Given the description of an element on the screen output the (x, y) to click on. 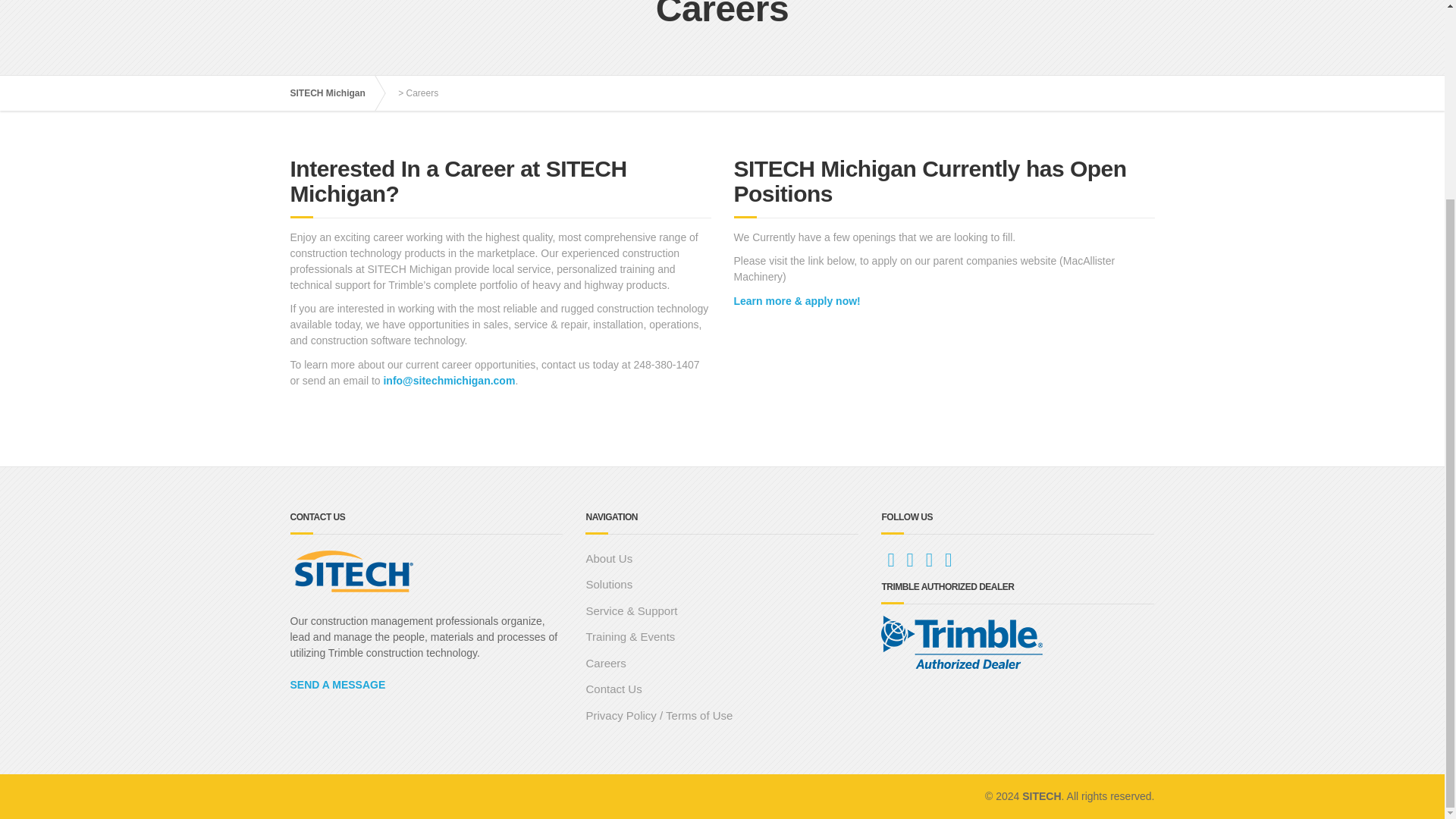
SEND A MESSAGE (337, 684)
Go to SITECH Michigan. (334, 93)
SITECH Michigan (334, 93)
Contact Us (722, 689)
About Us (722, 559)
Careers (722, 663)
Solutions (722, 584)
